Given the description of an element on the screen output the (x, y) to click on. 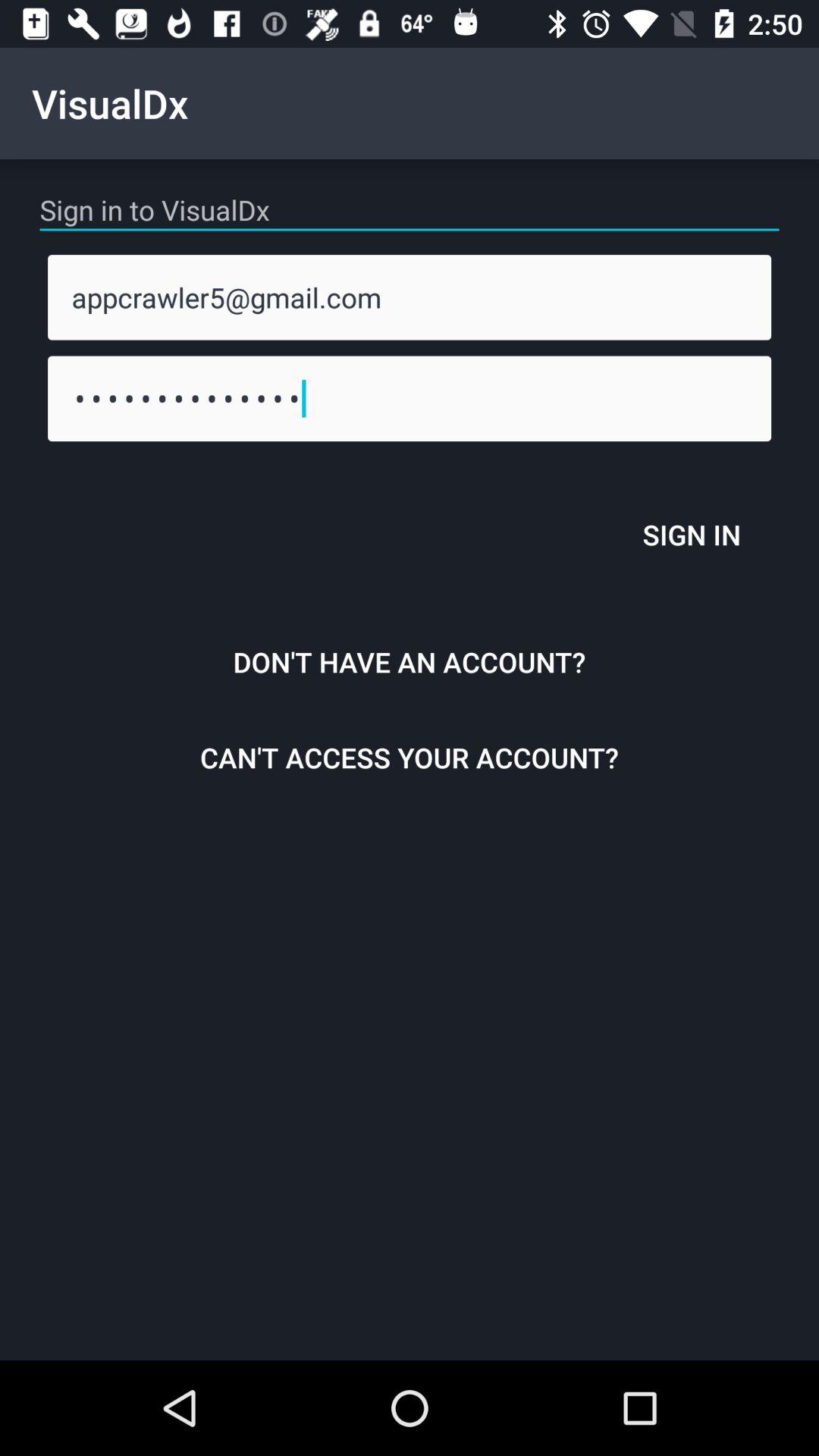
flip to the appcrawler3116 icon (409, 398)
